Given the description of an element on the screen output the (x, y) to click on. 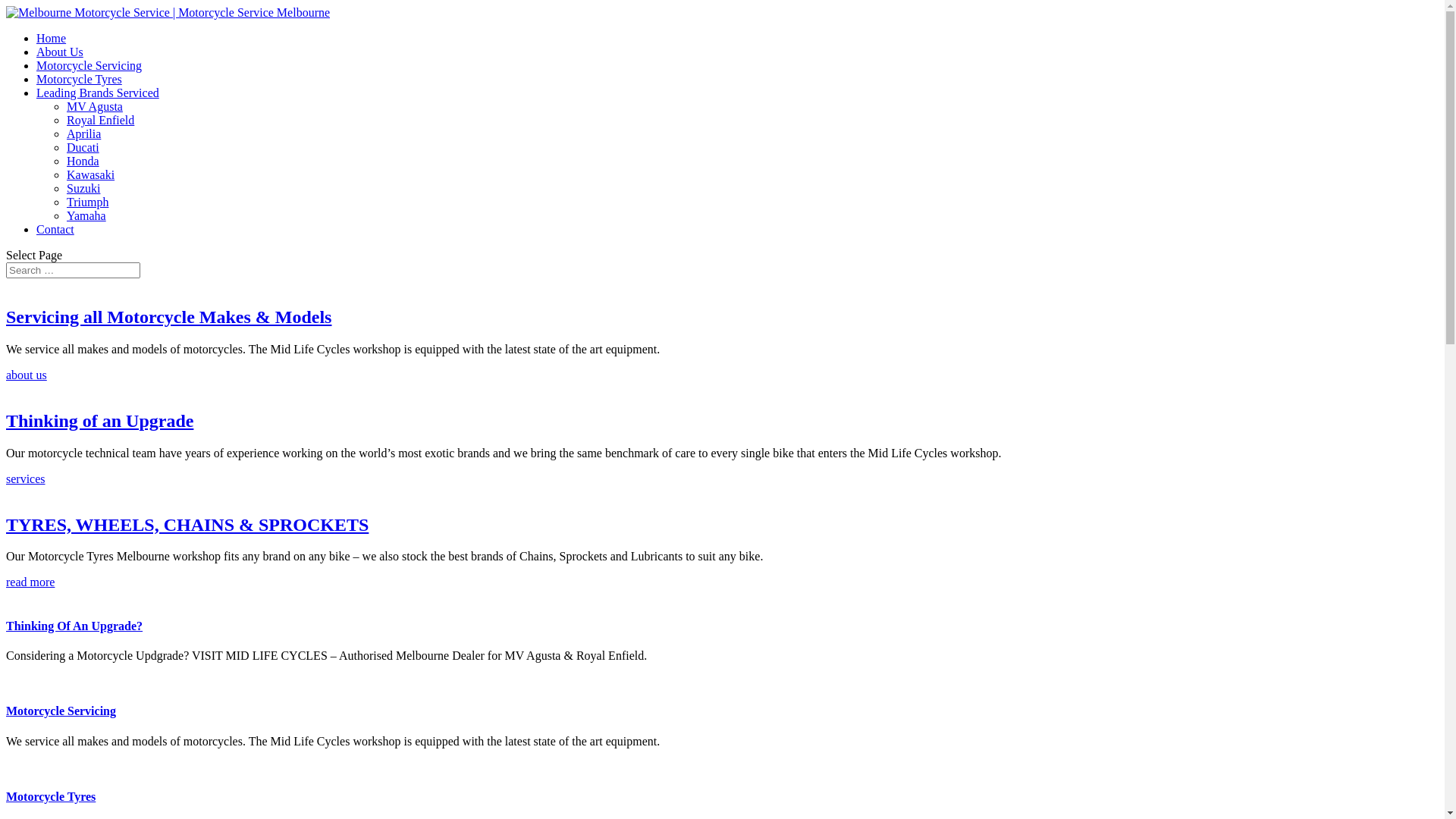
Thinking Of An Upgrade? Element type: text (74, 625)
Motorcycle Servicing Element type: text (61, 710)
services Element type: text (25, 478)
Kawasaki Element type: text (90, 174)
Leading Brands Serviced Element type: text (97, 92)
TYRES, WHEELS, CHAINS & SPROCKETS Element type: text (187, 524)
Triumph Element type: text (87, 201)
Yamaha Element type: text (86, 215)
Motorcycle Tyres Element type: text (79, 78)
read more Element type: text (30, 581)
Suzuki Element type: text (83, 188)
Royal Enfield Element type: text (100, 119)
Aprilia Element type: text (83, 133)
Home Element type: text (50, 37)
Motorcycle Tyres Element type: text (50, 796)
about us Element type: text (26, 374)
Motorcycle Servicing Element type: text (88, 65)
About Us Element type: text (59, 51)
Servicing all Motorcycle Makes & Models Element type: text (168, 316)
Search for: Element type: hover (73, 270)
Contact Element type: text (55, 228)
Thinking of an Upgrade Element type: text (99, 420)
Ducati Element type: text (82, 147)
Honda Element type: text (82, 160)
MV Agusta Element type: text (94, 106)
